Given the description of an element on the screen output the (x, y) to click on. 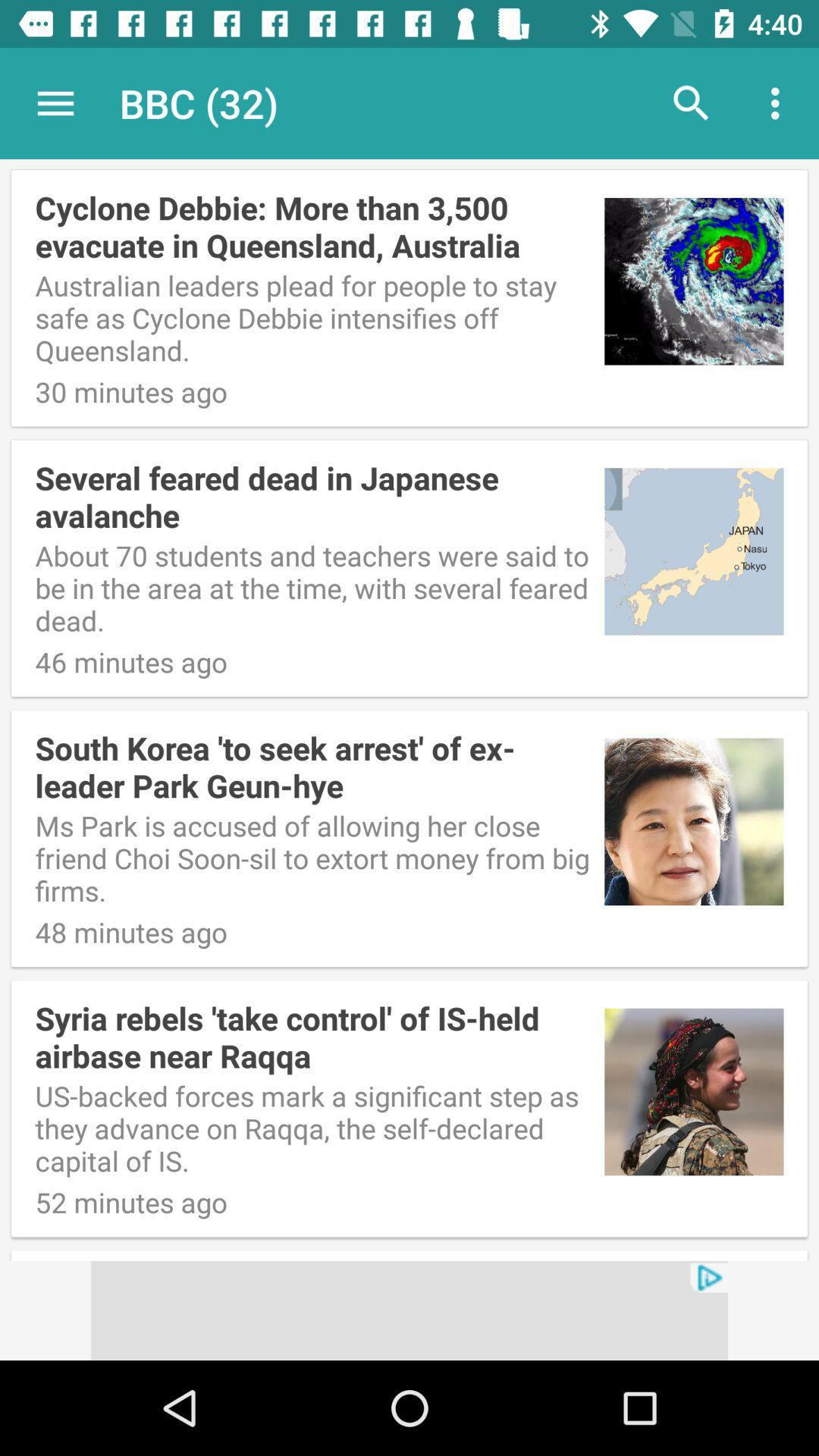
turn off the icon to the right of bbc (32) app (691, 103)
